Given the description of an element on the screen output the (x, y) to click on. 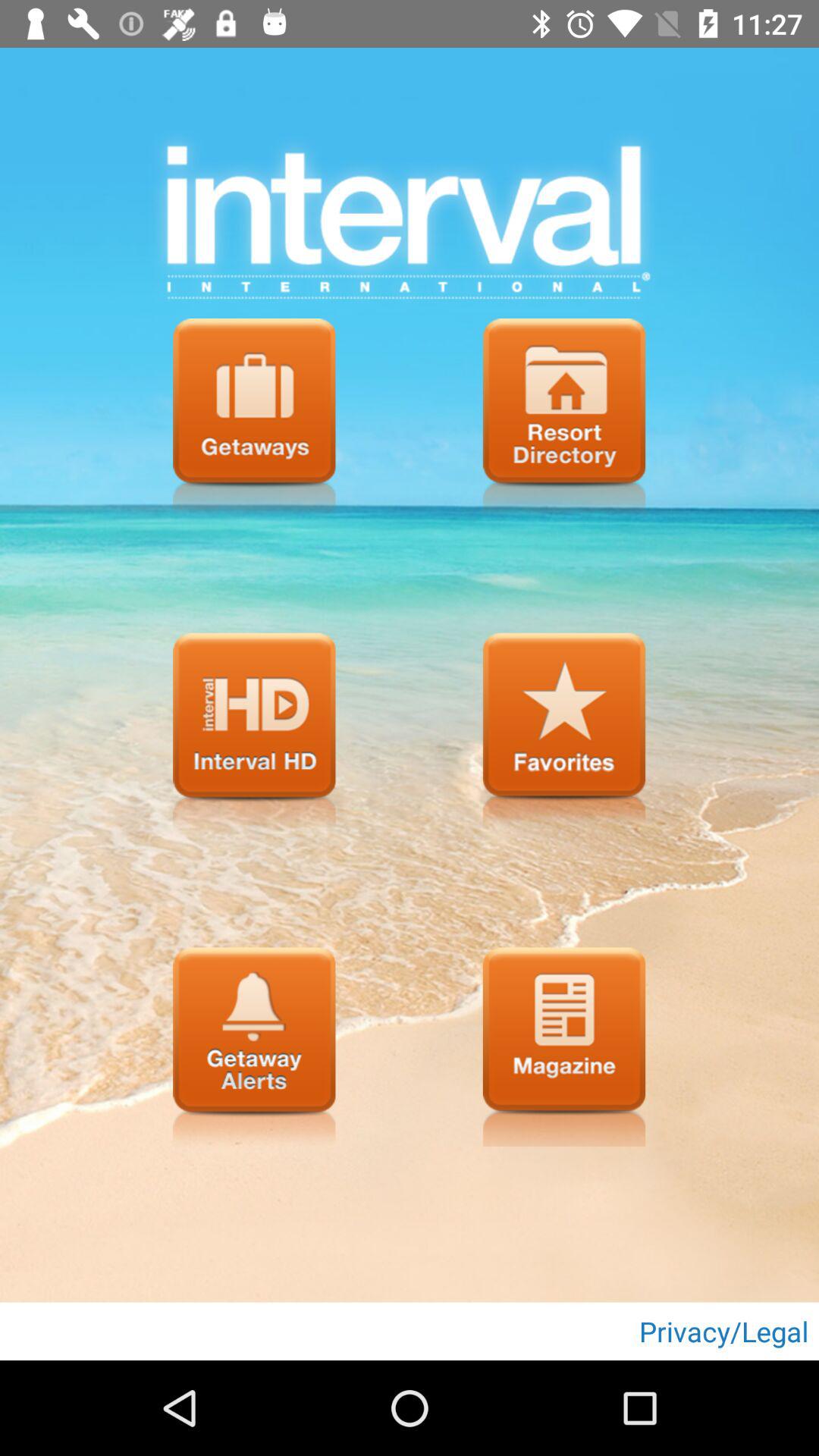
setting page (253, 417)
